Given the description of an element on the screen output the (x, y) to click on. 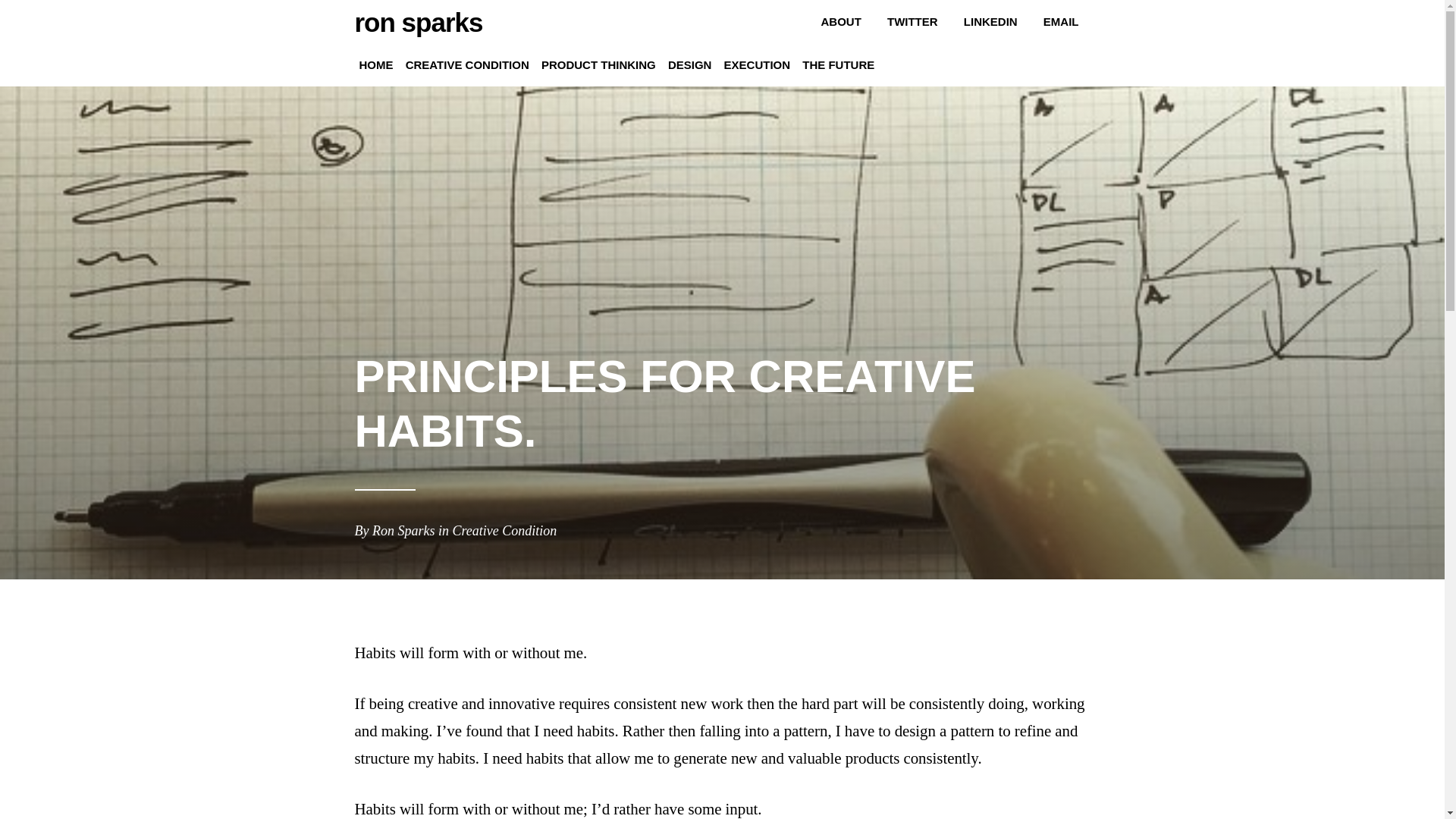
CREATIVE CONDITION (467, 64)
LINKEDIN (990, 21)
HOME (376, 64)
DESIGN (689, 64)
Creative Condition (503, 530)
EXECUTION (756, 64)
PRODUCT THINKING (599, 64)
ABOUT (840, 21)
EMAIL (1061, 21)
Ron Sparks (403, 530)
TWITTER (912, 21)
ron sparks (419, 21)
THE FUTURE (838, 64)
